Given the description of an element on the screen output the (x, y) to click on. 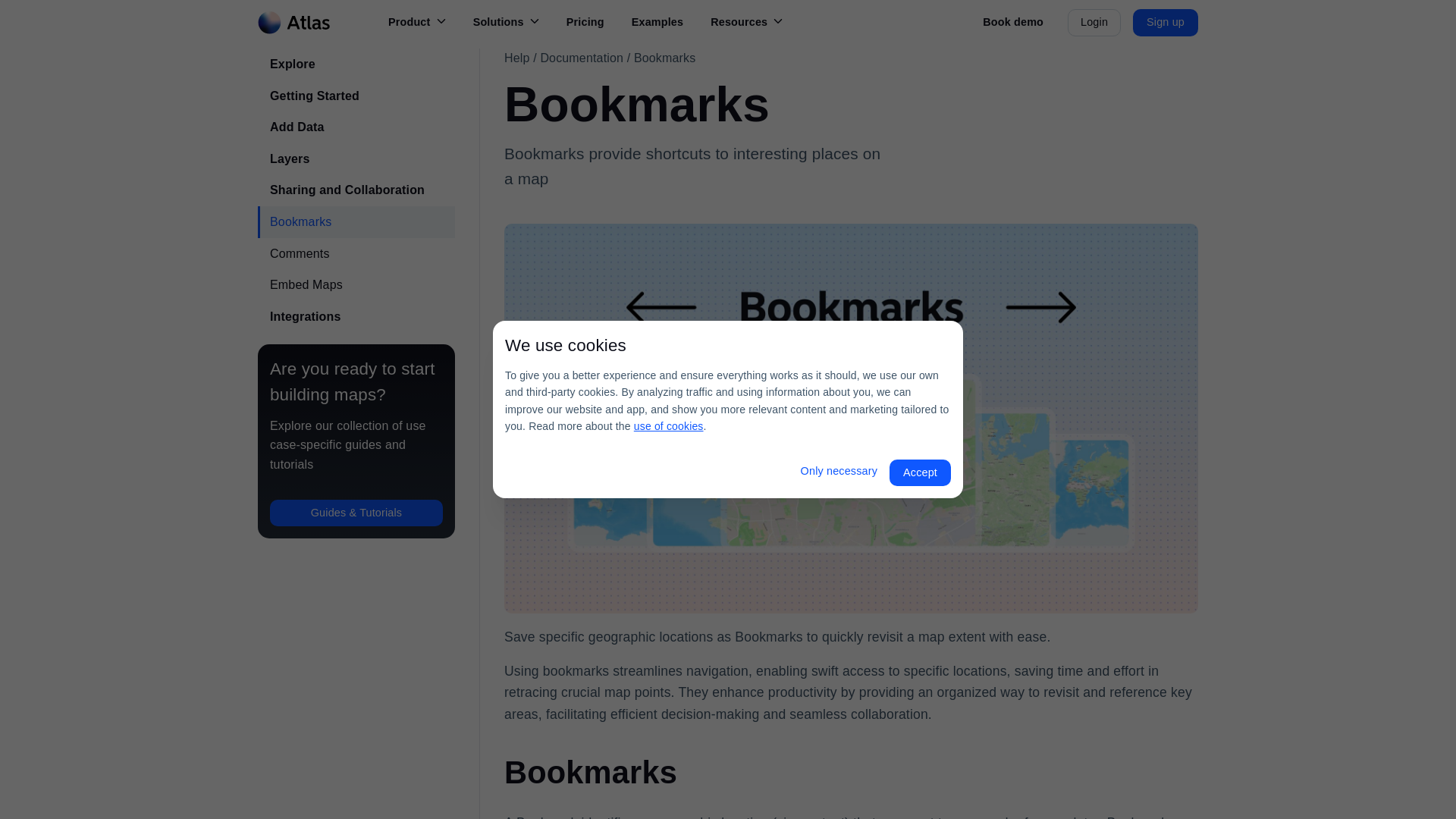
Layers (355, 159)
Bookmarks (664, 57)
Bookmarks (355, 222)
Sharing and Collaboration (355, 190)
Integrations (355, 316)
Documentation (581, 57)
Add Data (355, 127)
Explore (355, 64)
Getting Started (355, 96)
Comments (355, 254)
Help (516, 57)
Embed Maps (355, 285)
